Given the description of an element on the screen output the (x, y) to click on. 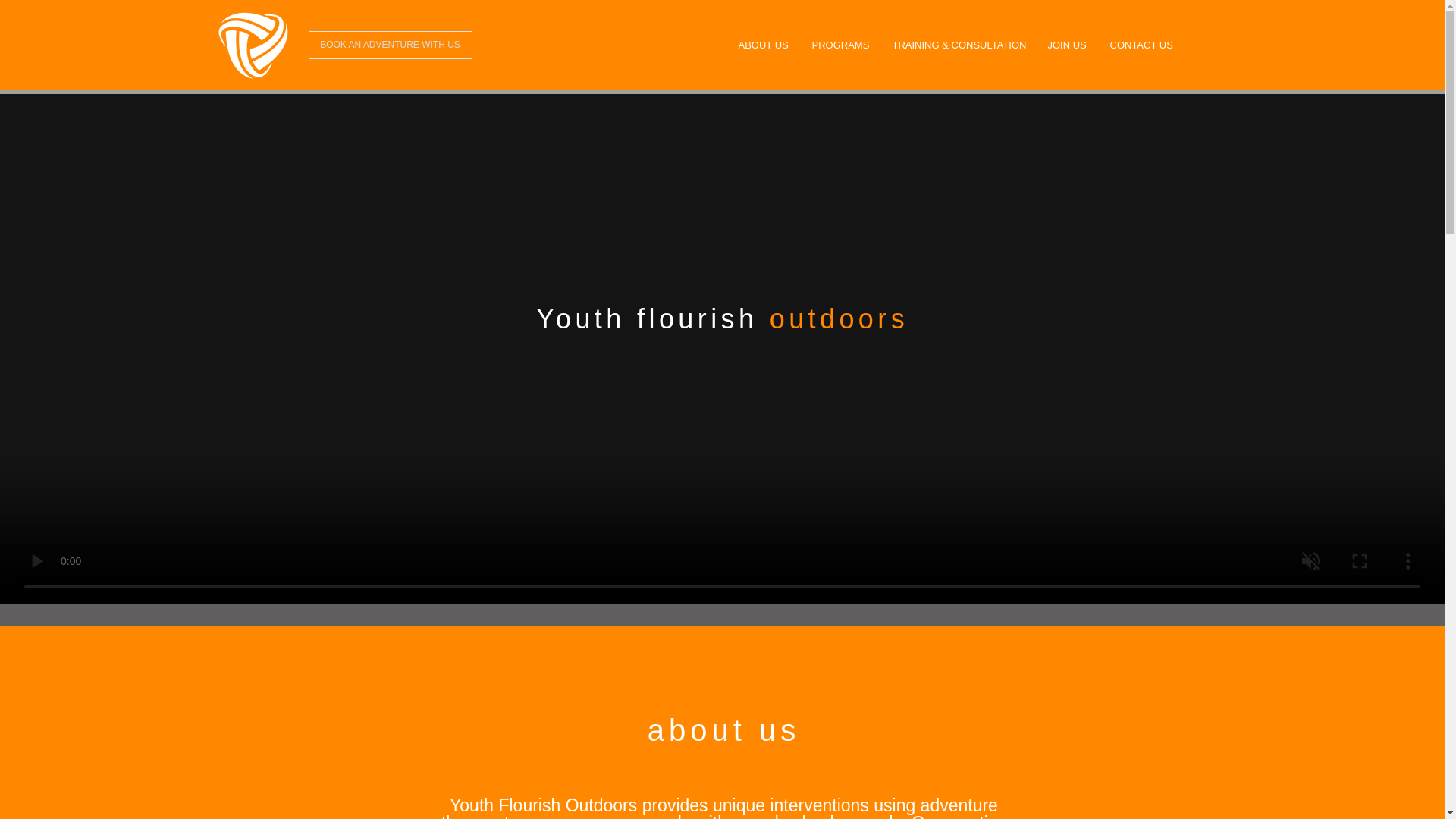
BOOK AN ADVENTURE WITH US (389, 44)
ABOUT US (762, 45)
PROGRAMS (840, 45)
CONTACT US (1139, 45)
JOIN US (1066, 45)
